Given the description of an element on the screen output the (x, y) to click on. 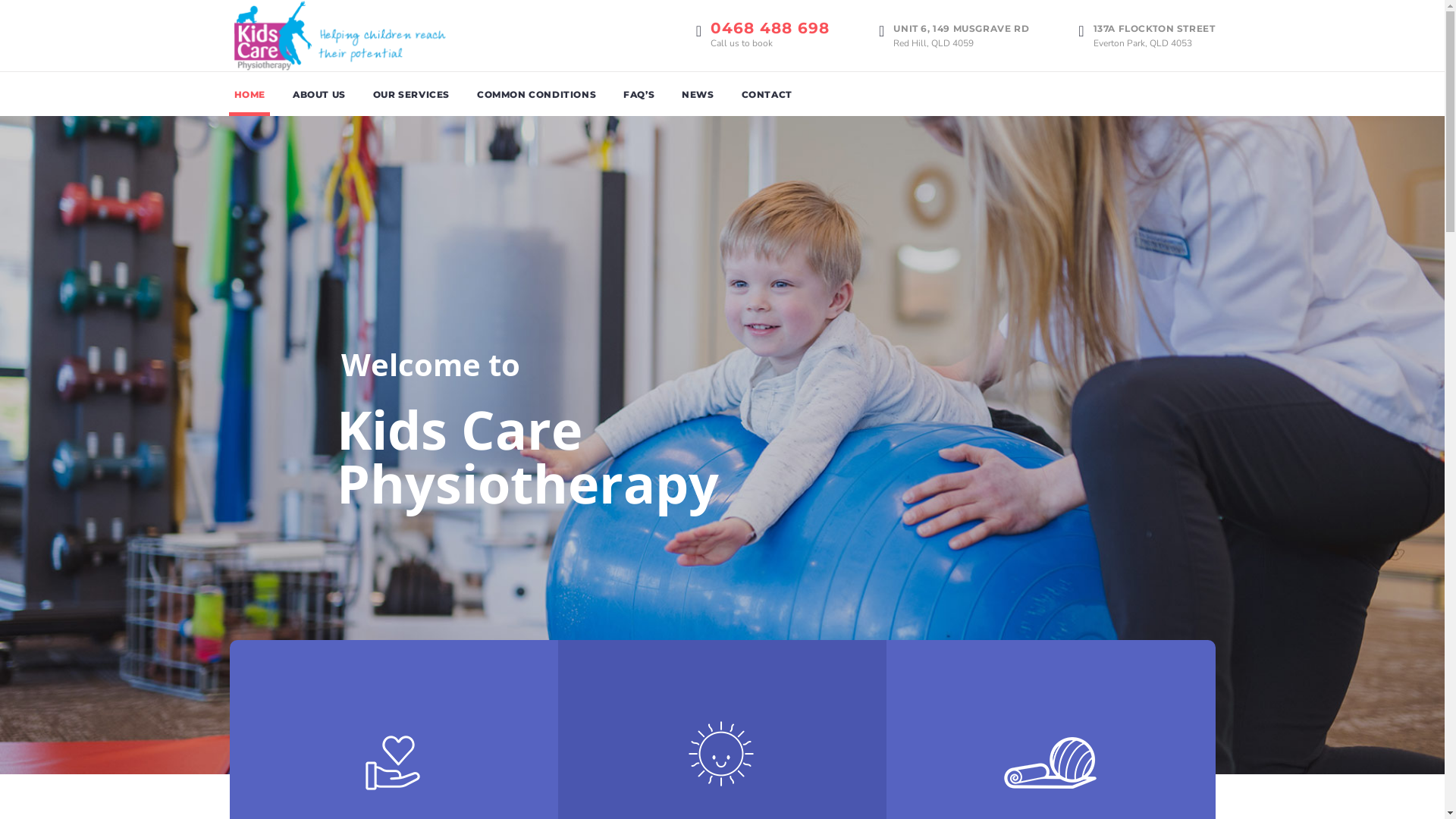
CONTACT Element type: text (767, 94)
0468 488 698 Element type: text (769, 28)
UNIT 6, 149 MUSGRAVE RD Element type: text (961, 28)
NEWS Element type: text (697, 94)
137A FLOCKTON STREET Element type: text (1154, 28)
HOME Element type: text (248, 94)
ABOUT US Element type: text (319, 94)
COMMON CONDITIONS Element type: text (536, 94)
OUR SERVICES Element type: text (411, 94)
